Given the description of an element on the screen output the (x, y) to click on. 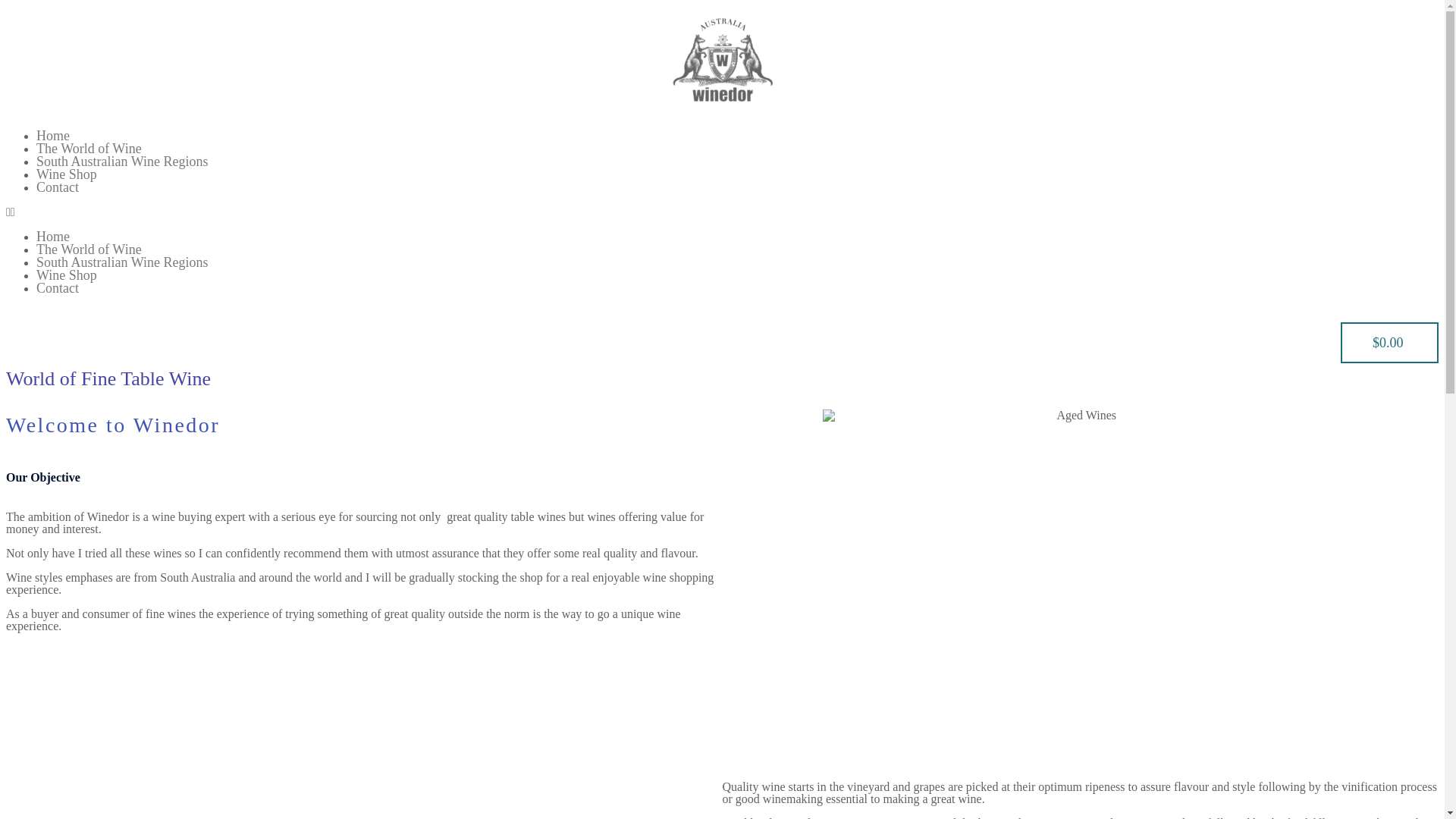
Wine Shop Element type: text (66, 274)
The World of Wine Element type: text (88, 249)
The World of Wine Element type: text (88, 148)
Home Element type: text (52, 236)
Contact Element type: text (57, 287)
South Australian Wine Regions Element type: text (121, 261)
Wine Shop Element type: text (66, 174)
Home 1 Element type: hover (1080, 581)
South Australian Wine Regions Element type: text (121, 161)
Contact Element type: text (57, 186)
Home Element type: text (52, 135)
$0.00 Element type: text (1389, 342)
